Given the description of an element on the screen output the (x, y) to click on. 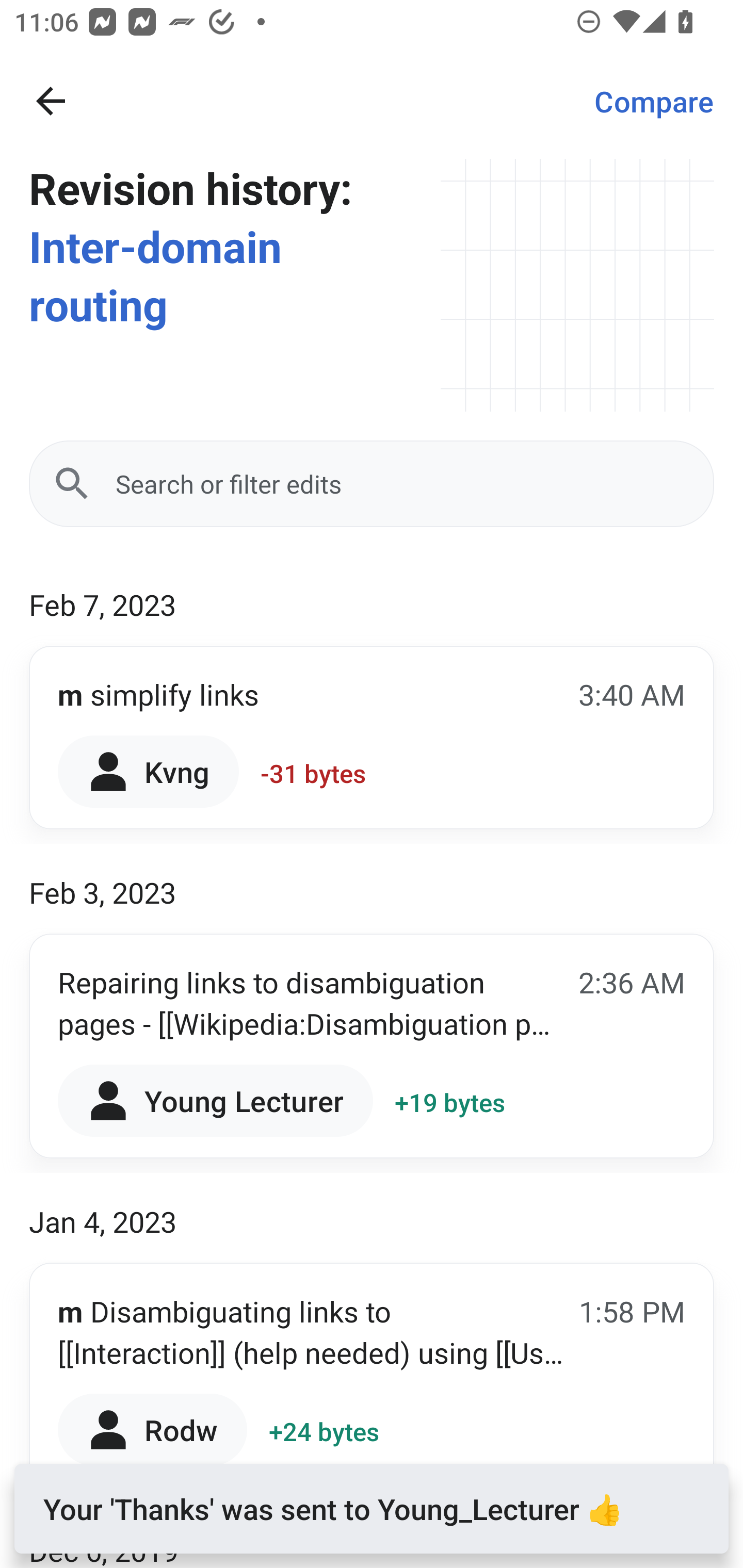
Navigate up (50, 101)
Compare (654, 101)
Search or filter edits (371, 483)
m simplify links 3:40 AM Kvng -31 bytes (371, 737)
Kvng (148, 771)
Young Lecturer (214, 1100)
Rodw (152, 1429)
